Given the description of an element on the screen output the (x, y) to click on. 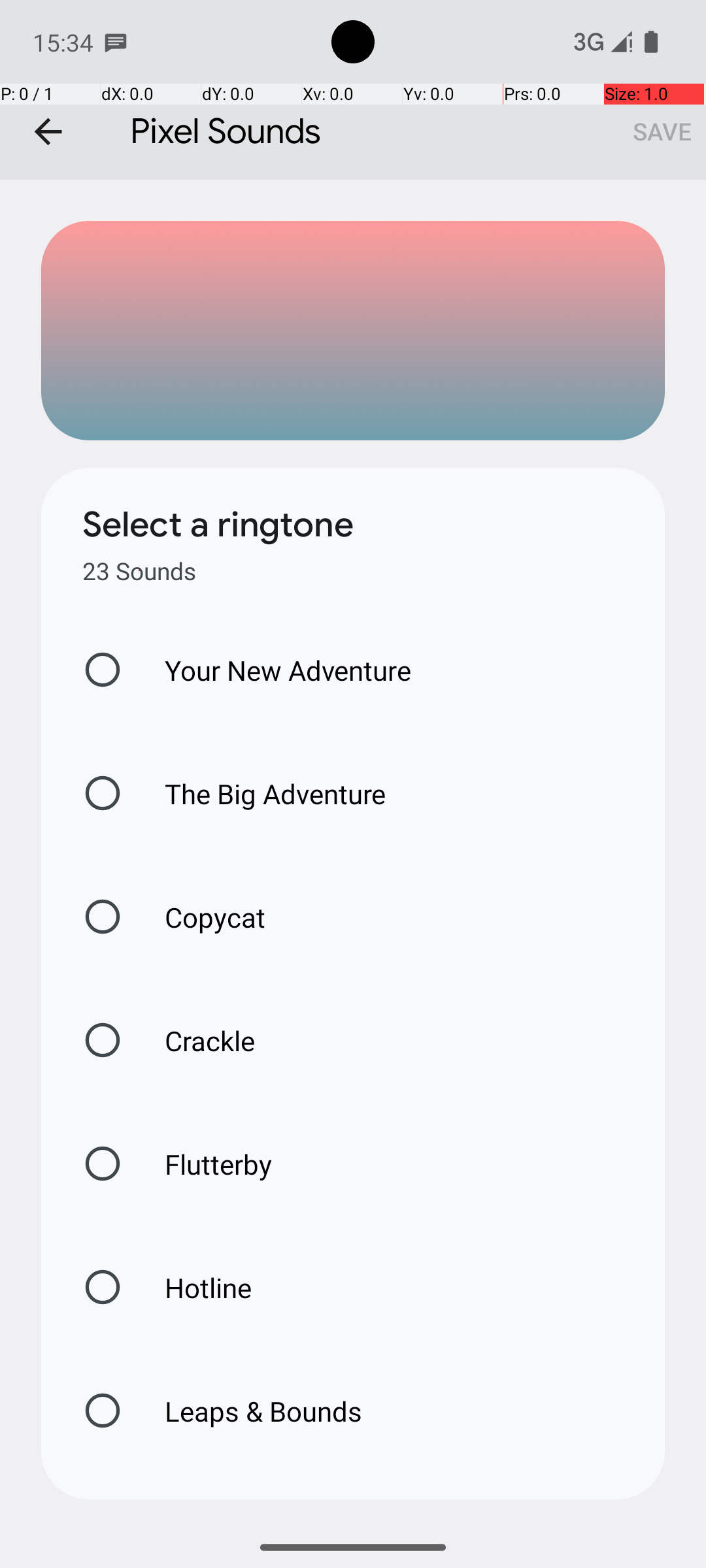
Pixel Sounds Element type: android.widget.FrameLayout (353, 89)
Select a ringtone Element type: android.widget.TextView (217, 524)
23 Sounds Element type: android.widget.TextView (139, 570)
Your New Adventure Element type: android.widget.TextView (274, 669)
The Big Adventure Element type: android.widget.TextView (261, 793)
Copycat Element type: android.widget.TextView (201, 916)
Crackle Element type: android.widget.TextView (196, 1040)
Flutterby Element type: android.widget.TextView (204, 1163)
Hotline Element type: android.widget.TextView (194, 1287)
Leaps & Bounds Element type: android.widget.TextView (249, 1410)
